Given the description of an element on the screen output the (x, y) to click on. 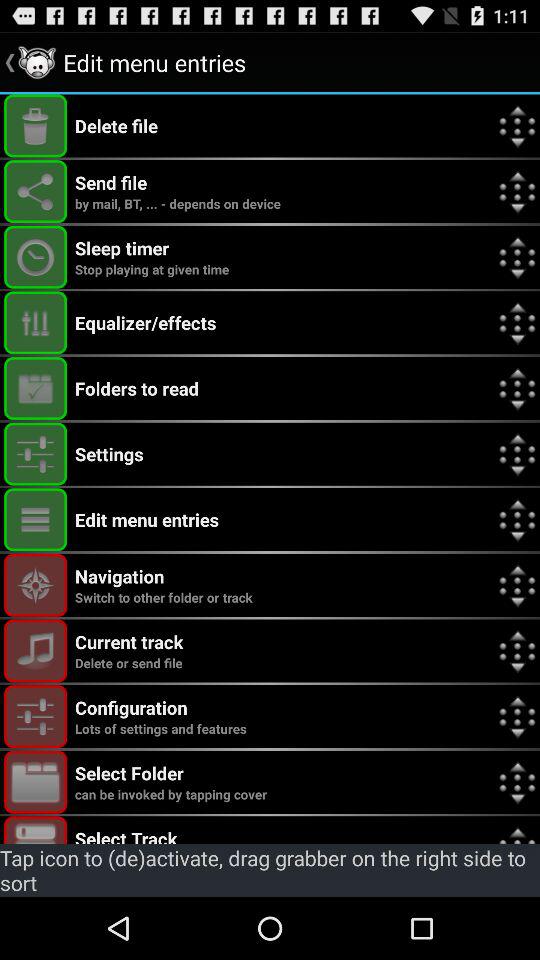
toggle delete file option (35, 125)
